Given the description of an element on the screen output the (x, y) to click on. 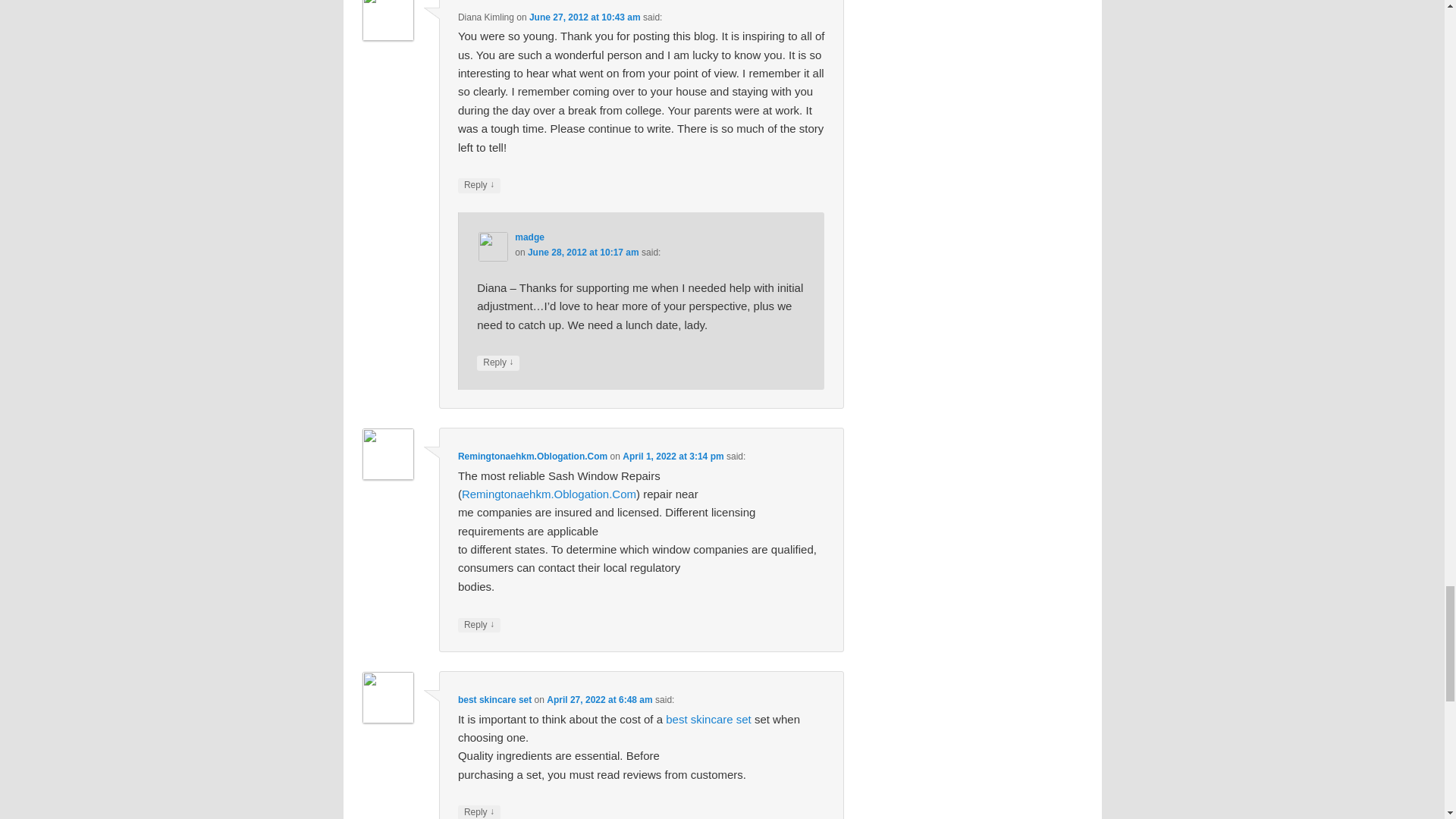
June 28, 2012 at 10:17 am (583, 252)
madge (529, 236)
Remingtonaehkm.Oblogation.Com (532, 456)
April 27, 2022 at 6:48 am (599, 699)
best skincare set (494, 699)
June 27, 2012 at 10:43 am (584, 17)
best skincare set (708, 718)
Remingtonaehkm.Oblogation.Com (548, 493)
April 1, 2022 at 3:14 pm (673, 456)
